Given the description of an element on the screen output the (x, y) to click on. 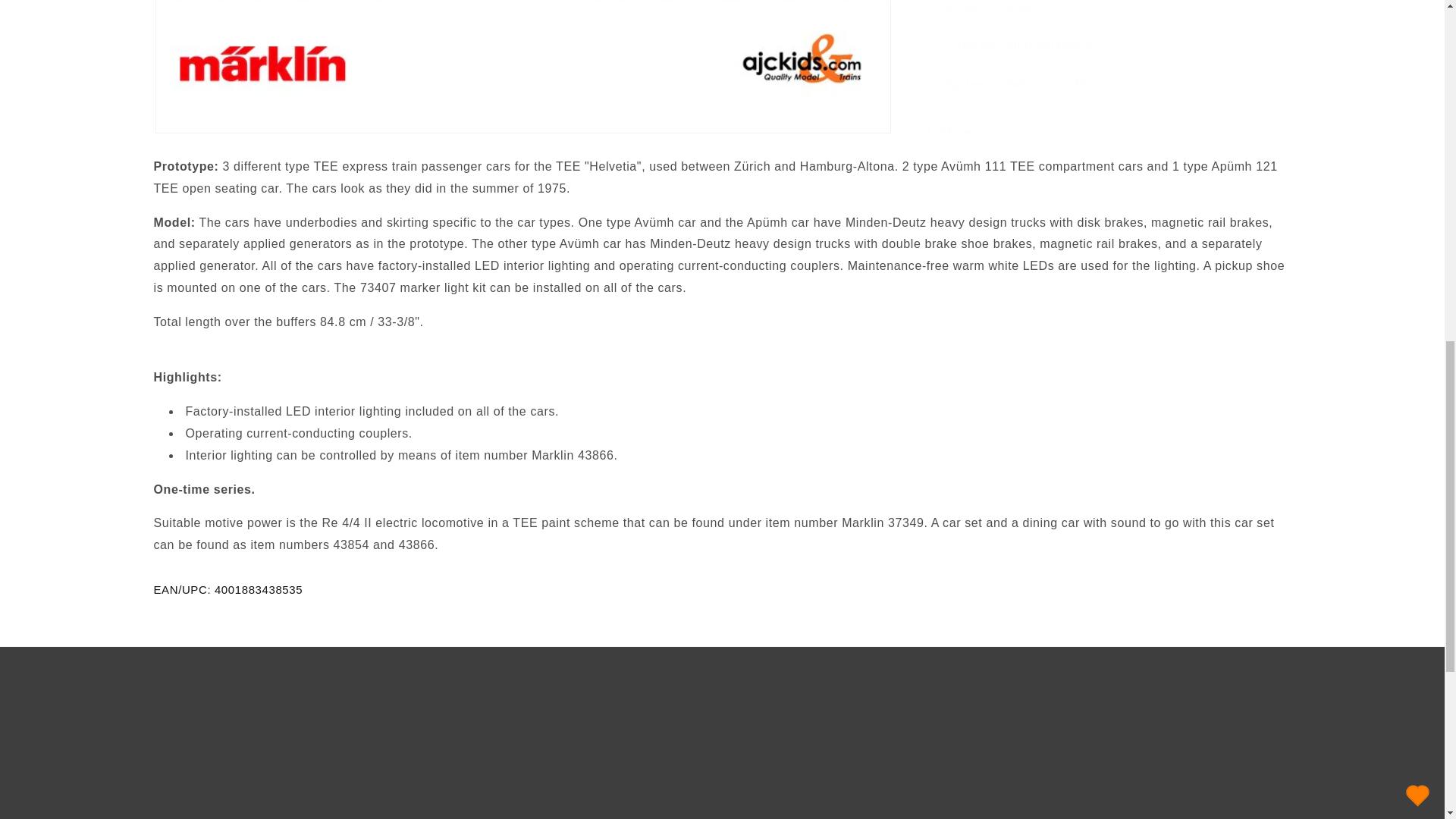
Open media 1 in modal (522, 58)
